Given the description of an element on the screen output the (x, y) to click on. 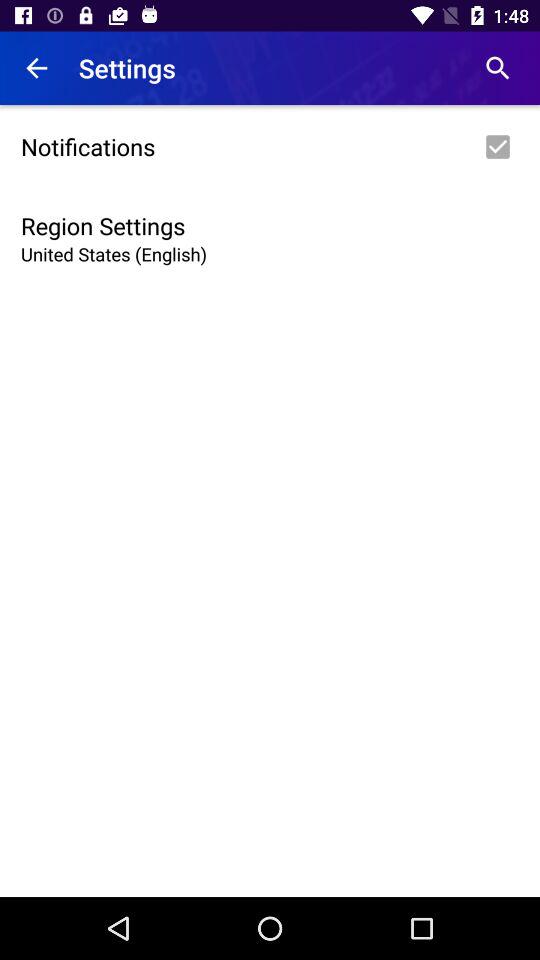
open item at the top right corner (497, 67)
